Given the description of an element on the screen output the (x, y) to click on. 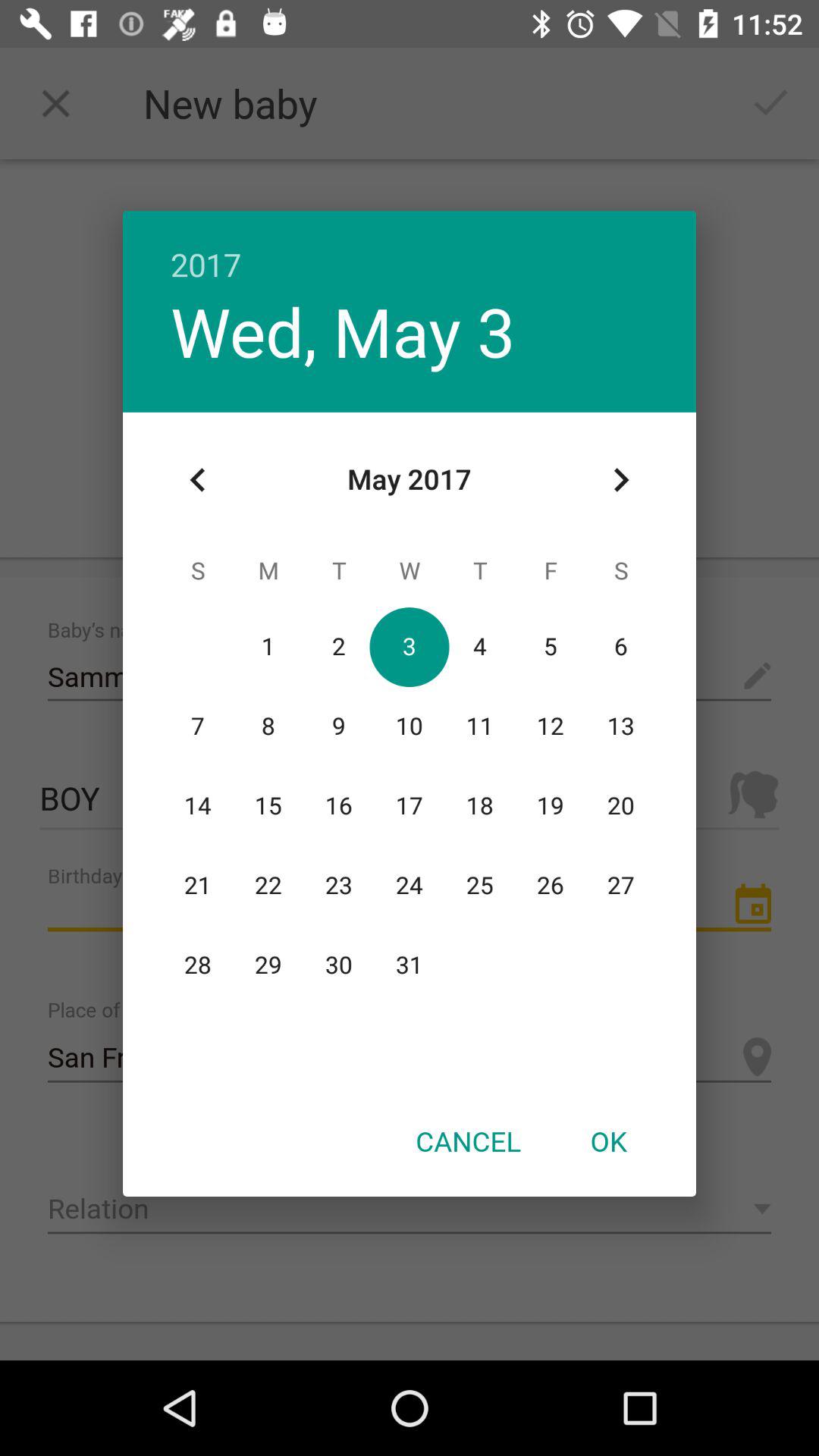
click cancel icon (467, 1140)
